Given the description of an element on the screen output the (x, y) to click on. 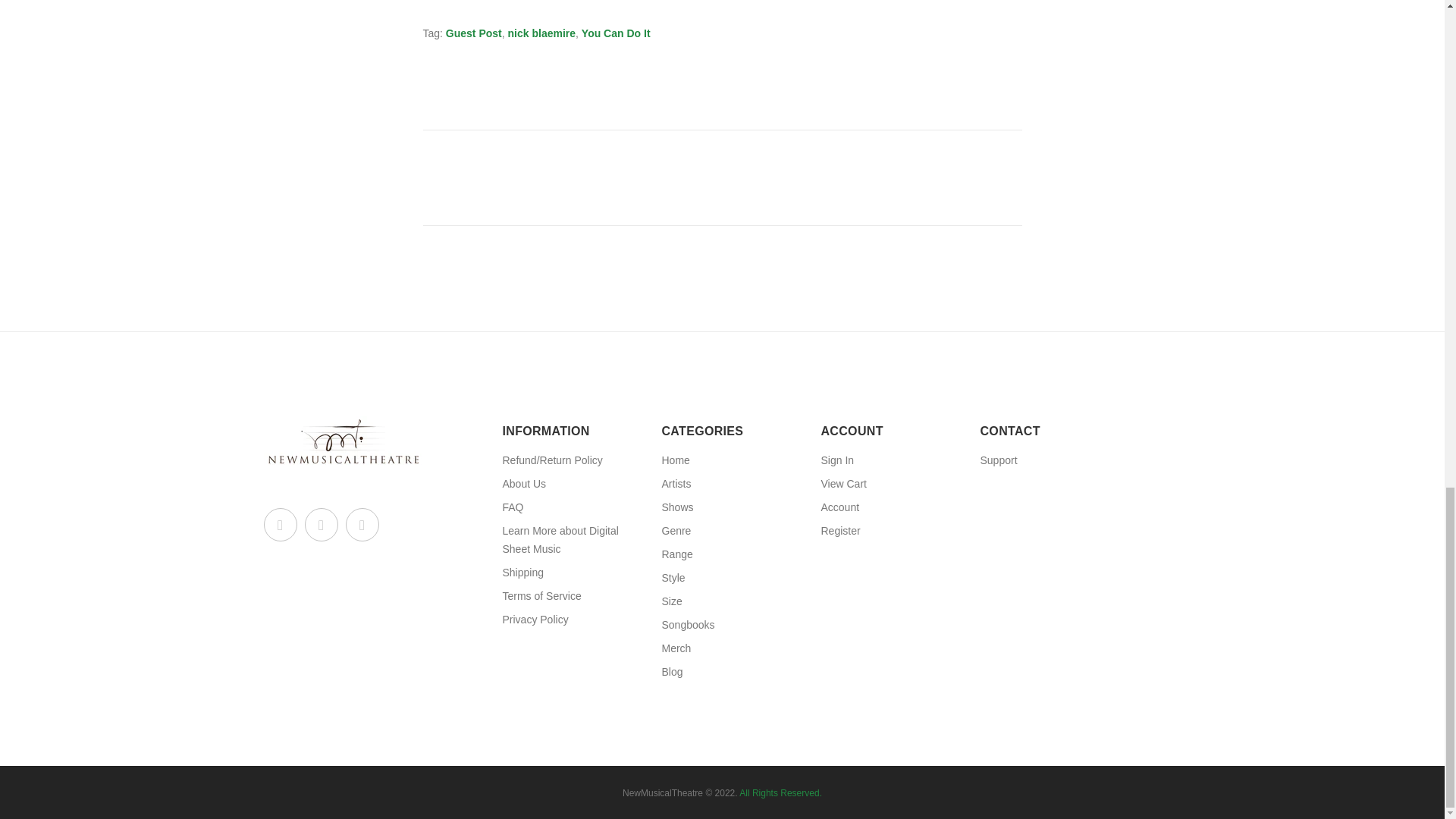
Show articles tagged You Can Do It (615, 33)
Show articles tagged nick blaemire (542, 33)
Show articles tagged Guest Post (473, 33)
